Given the description of an element on the screen output the (x, y) to click on. 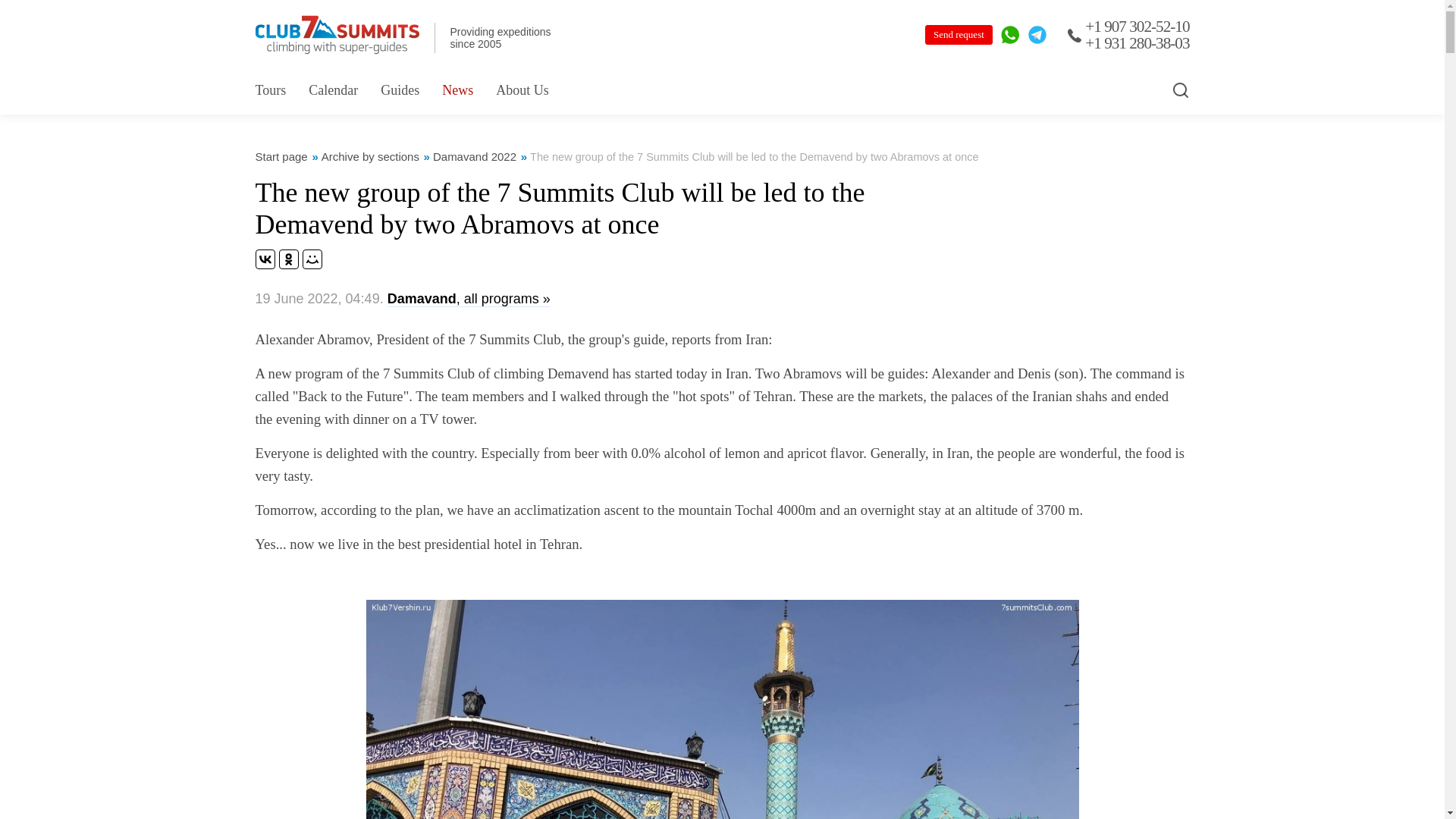
Send request (958, 35)
Tours (269, 89)
Damavand 2022 (474, 155)
About Us (522, 89)
Guides (399, 89)
Start page (280, 155)
News (457, 89)
Calendar (333, 89)
Archive by sections (370, 155)
